Given the description of an element on the screen output the (x, y) to click on. 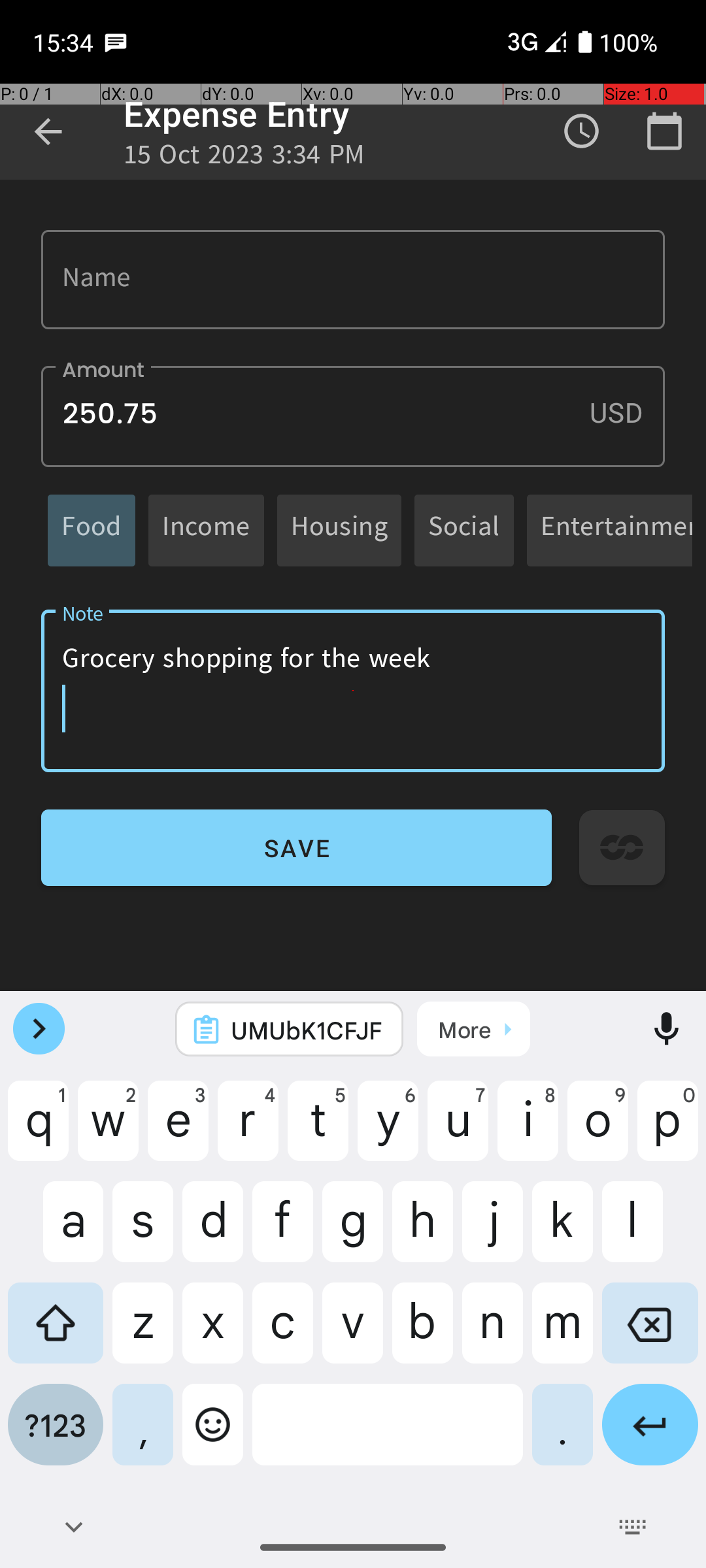
Expense Entry Element type: android.widget.TextView (236, 113)
15 Oct 2023 3:34 PM Element type: android.widget.TextView (244, 157)
Name Element type: android.widget.EditText (352, 279)
250.75 Element type: android.widget.EditText (352, 416)
Grocery shopping for the week
 Element type: android.widget.EditText (352, 690)
SAVE Element type: android.widget.Button (296, 847)
Open features menu Element type: android.widget.FrameLayout (39, 1028)
Enter Element type: android.widget.FrameLayout (649, 1434)
Click to open Clipboard Element type: android.view.ViewGroup (473, 1028)
UMUbK1CFJF Element type: android.widget.TextView (306, 1029)
SMS Messenger notification: +12845986552 Element type: android.widget.ImageView (115, 41)
